Given the description of an element on the screen output the (x, y) to click on. 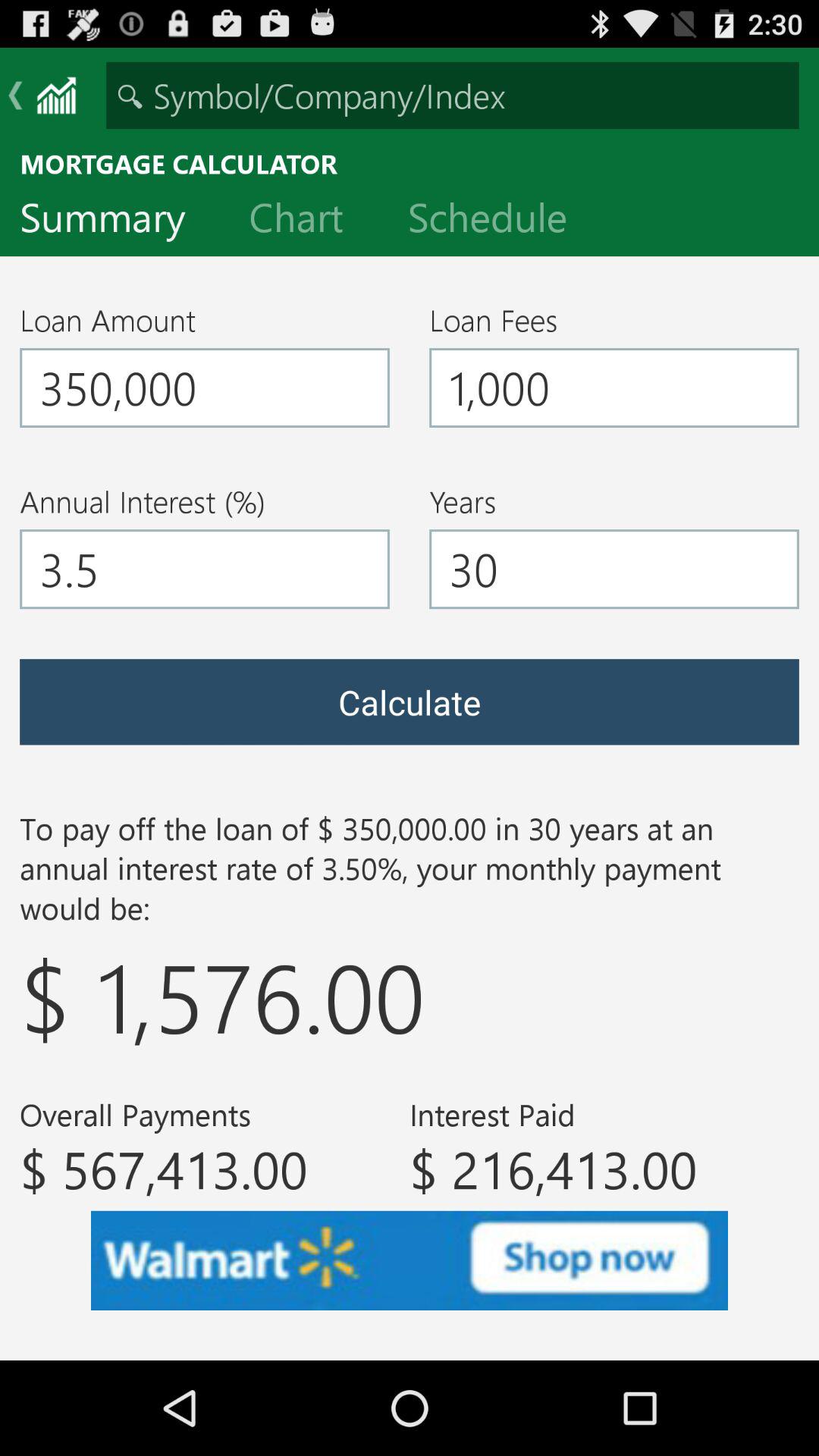
in-app search bar (452, 95)
